Given the description of an element on the screen output the (x, y) to click on. 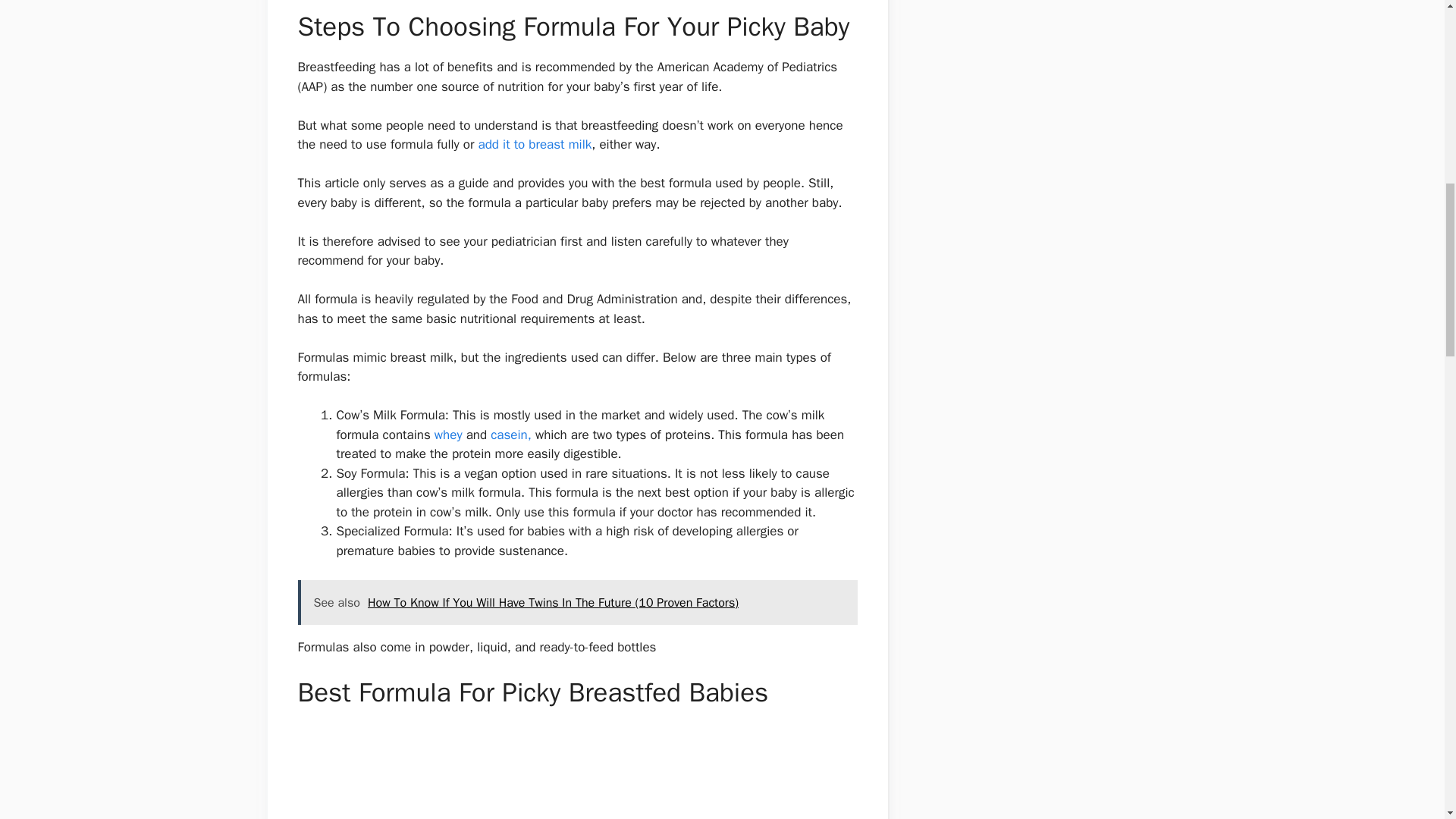
casein, (512, 434)
add it to breast milk (534, 144)
whey (449, 434)
